Given the description of an element on the screen output the (x, y) to click on. 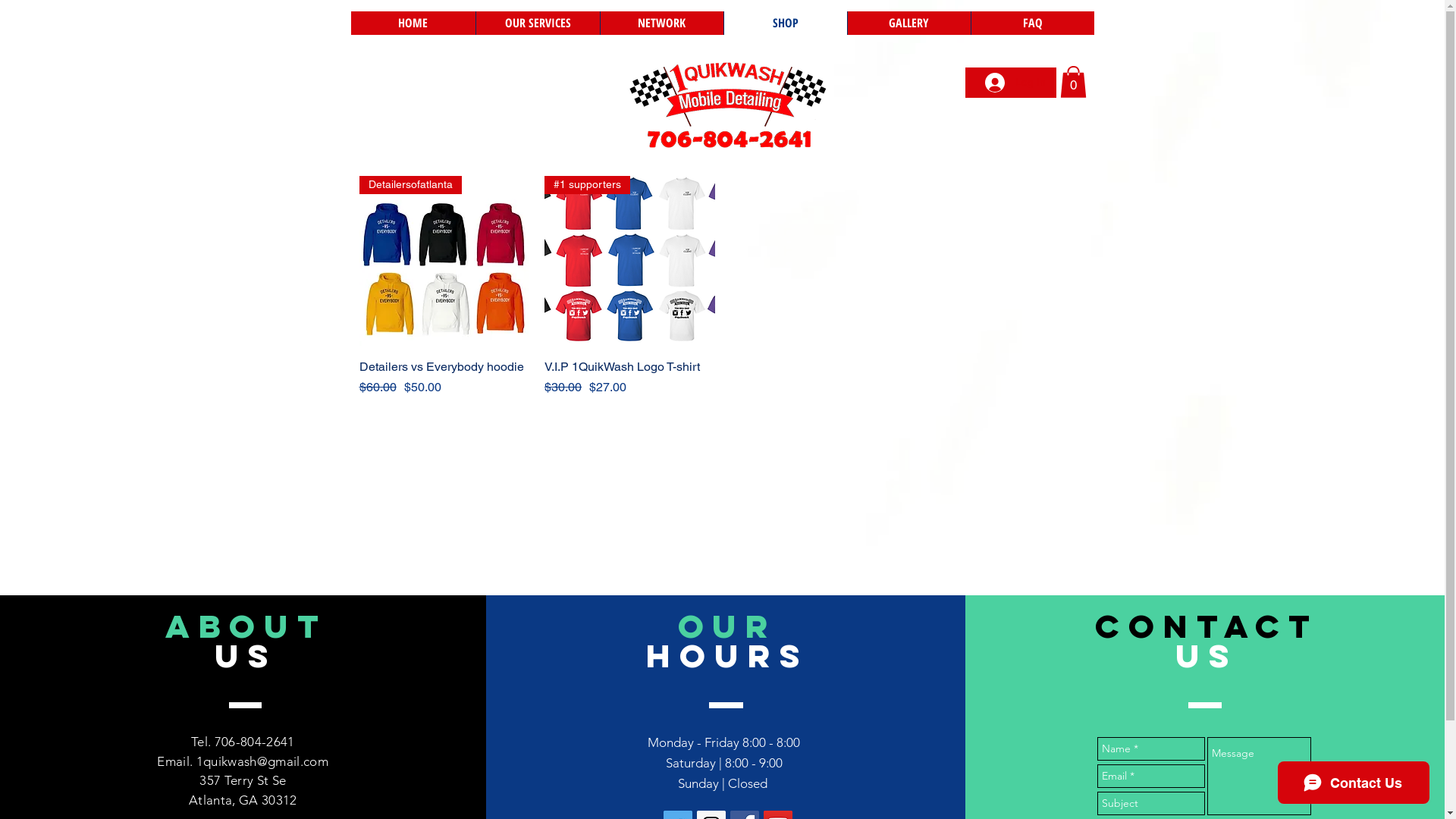
1quikwash@gmail.com Element type: text (262, 760)
NETWORK Element type: text (660, 22)
FAQ Element type: text (1032, 22)
#1 supporters Element type: text (629, 260)
HOME Element type: text (412, 22)
SHOP Element type: text (785, 22)
Log In Element type: text (1014, 82)
0 Element type: text (1073, 81)
GALLERY Element type: text (907, 22)
Detailersofatlanta Element type: text (444, 260)
